Given the description of an element on the screen output the (x, y) to click on. 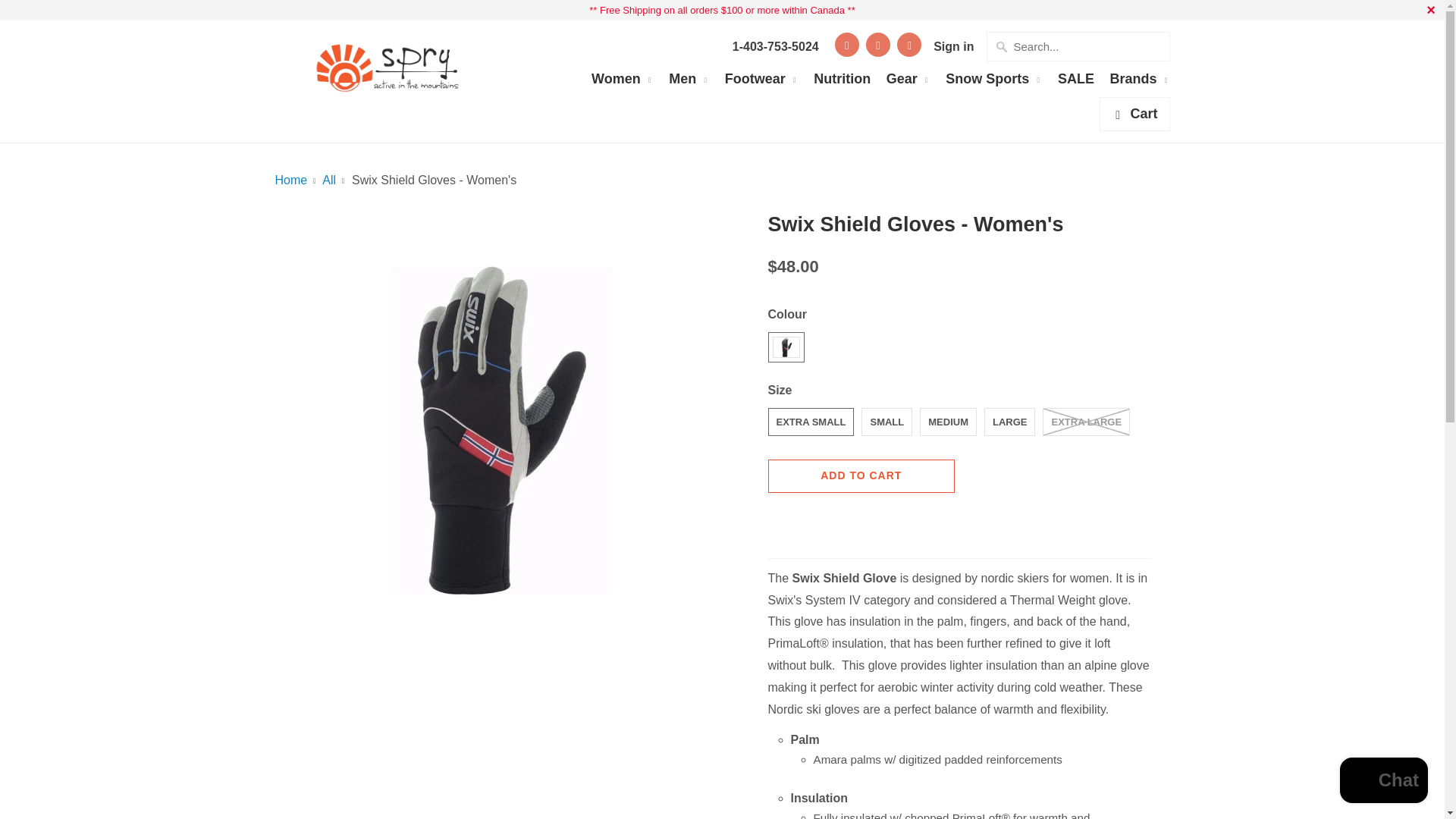
My Account (953, 46)
Cart (1134, 114)
Email spry (908, 44)
spry (291, 179)
spry (388, 61)
All (328, 179)
spry on Facebook (846, 44)
1-403-753-5024 (775, 46)
Women (622, 83)
Sign in (953, 46)
